Given the description of an element on the screen output the (x, y) to click on. 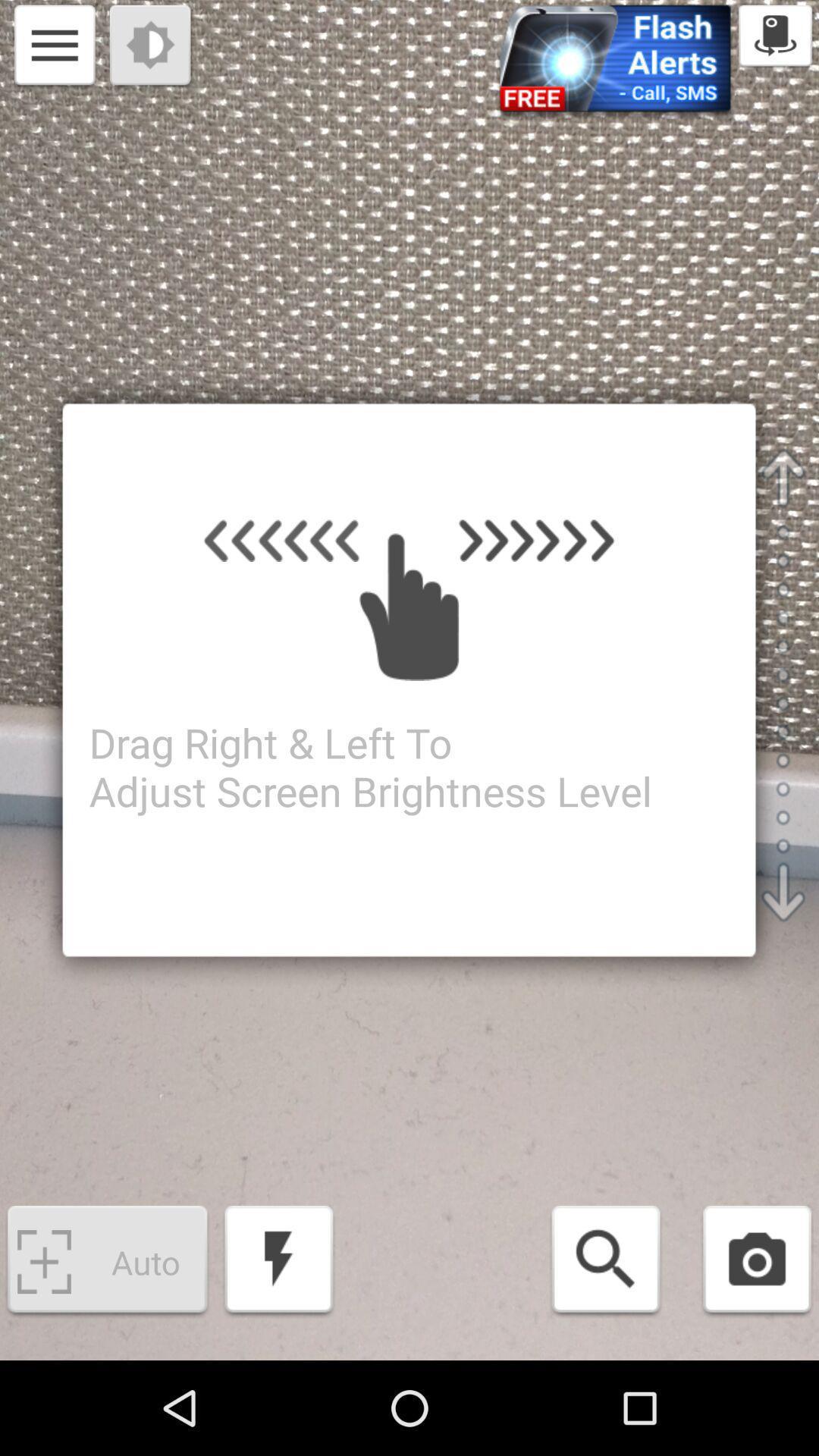
launch app below the drag right left (605, 1261)
